Given the description of an element on the screen output the (x, y) to click on. 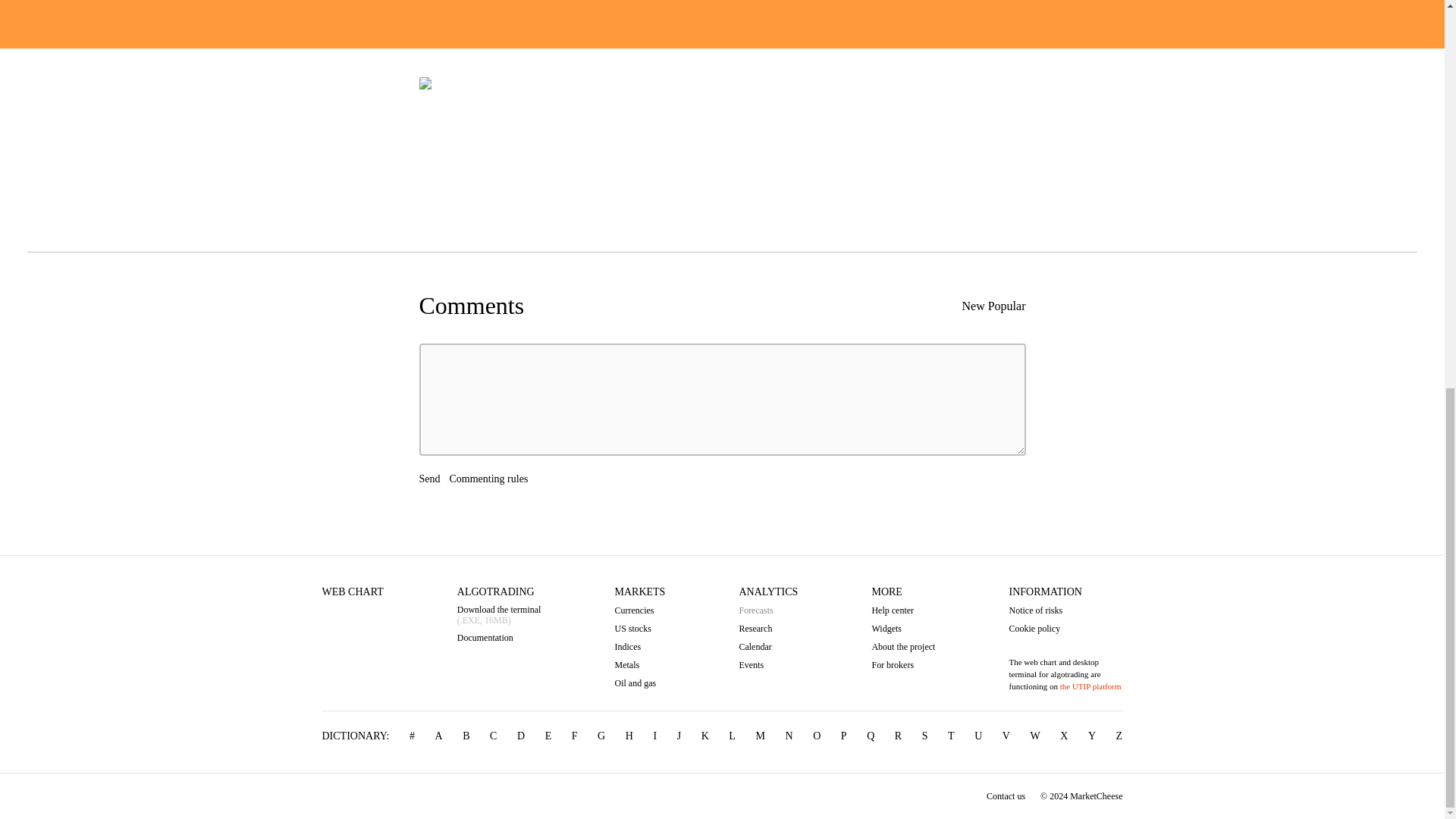
Documentation (499, 637)
Help center (902, 610)
About the project (902, 646)
Forecasts (767, 610)
Cookie policy (1065, 628)
US stocks (639, 628)
Notice of risks (1065, 610)
For brokers (902, 664)
the UTIP platform (1090, 686)
Events (767, 664)
Calendar (767, 646)
Research (767, 628)
Widgets (902, 628)
Metals (639, 664)
Indices (639, 646)
